Given the description of an element on the screen output the (x, y) to click on. 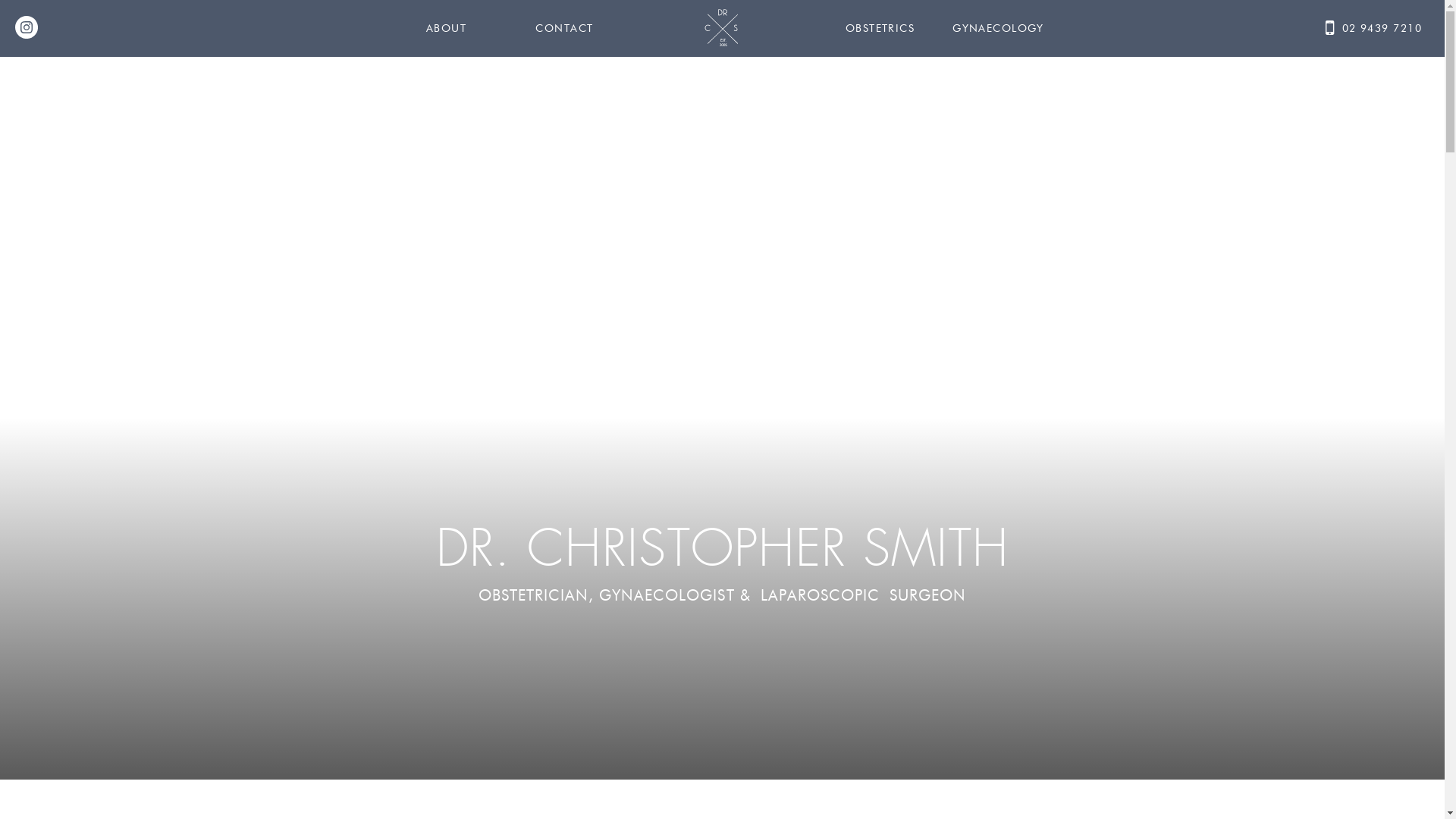
OBSTETRICS Element type: text (879, 28)
GYNAECOLOGY Element type: text (997, 28)
02 9439 7210 Element type: text (1377, 11)
CONTACT Element type: text (564, 28)
ABOUT Element type: text (445, 28)
